Given the description of an element on the screen output the (x, y) to click on. 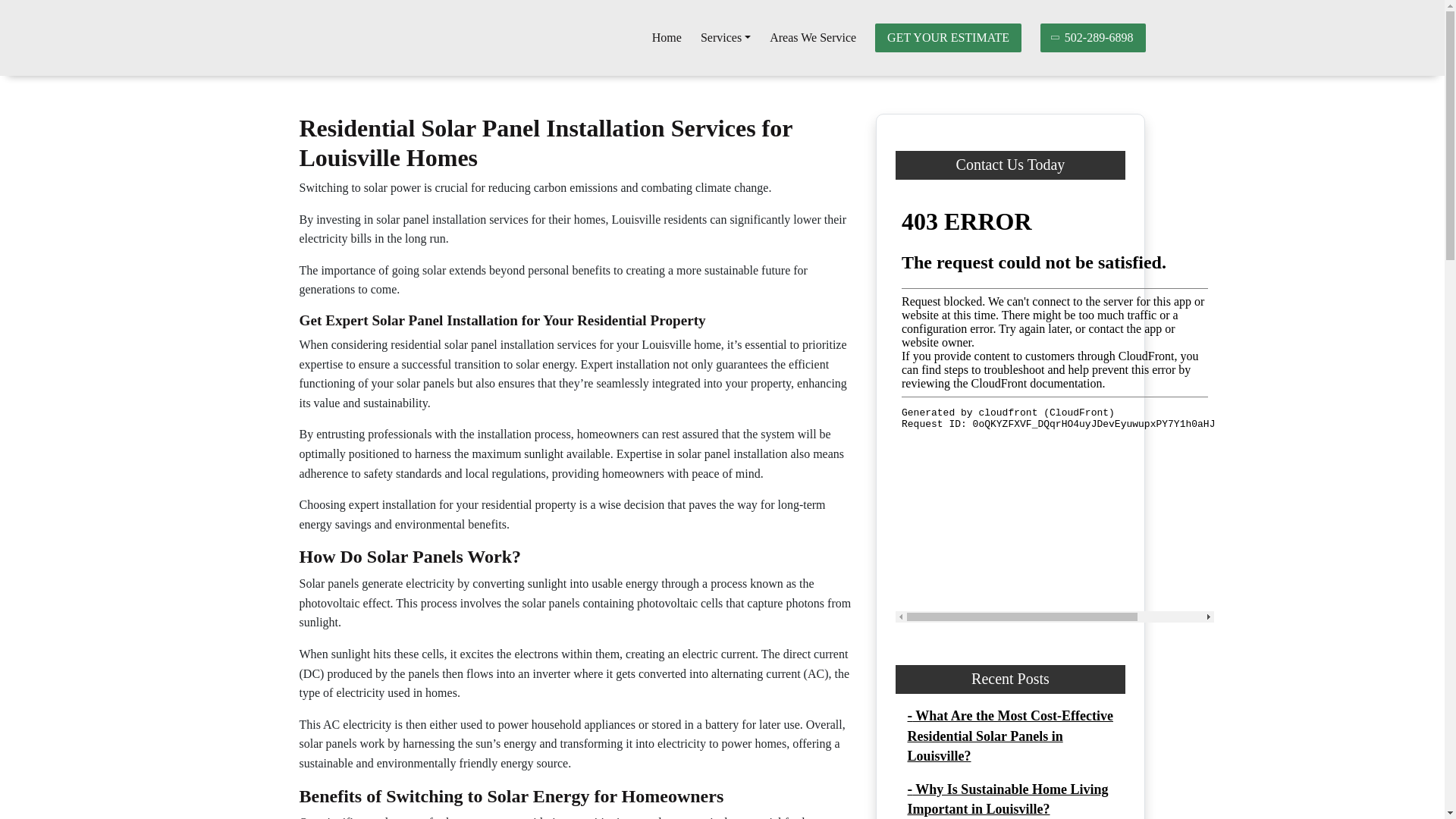
- Why Is Sustainable Home Living Important in Louisville? (1007, 799)
Areas We Service (813, 38)
Services (725, 38)
Areas We Service (813, 38)
Services (725, 38)
Home (666, 38)
GET YOUR ESTIMATE (948, 37)
502-289-6898 (1093, 37)
Home (666, 38)
